Given the description of an element on the screen output the (x, y) to click on. 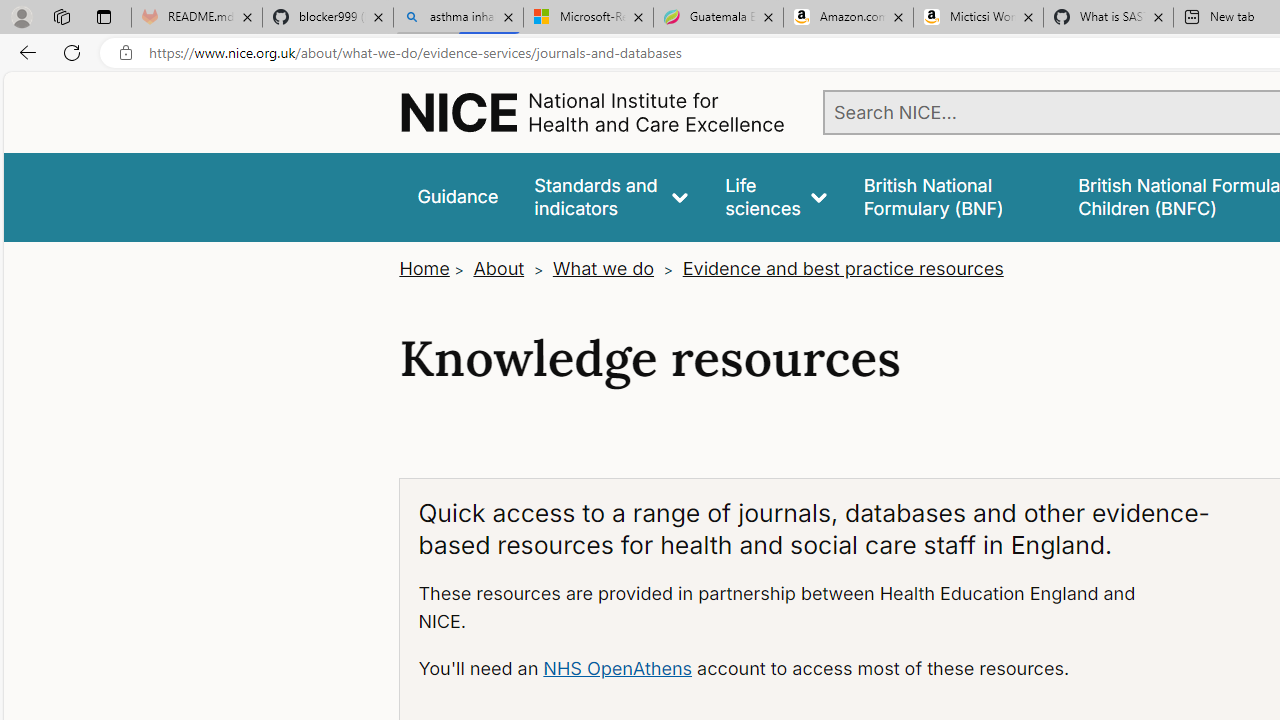
What we do (603, 268)
What we do> (614, 268)
false (952, 196)
